Given the description of an element on the screen output the (x, y) to click on. 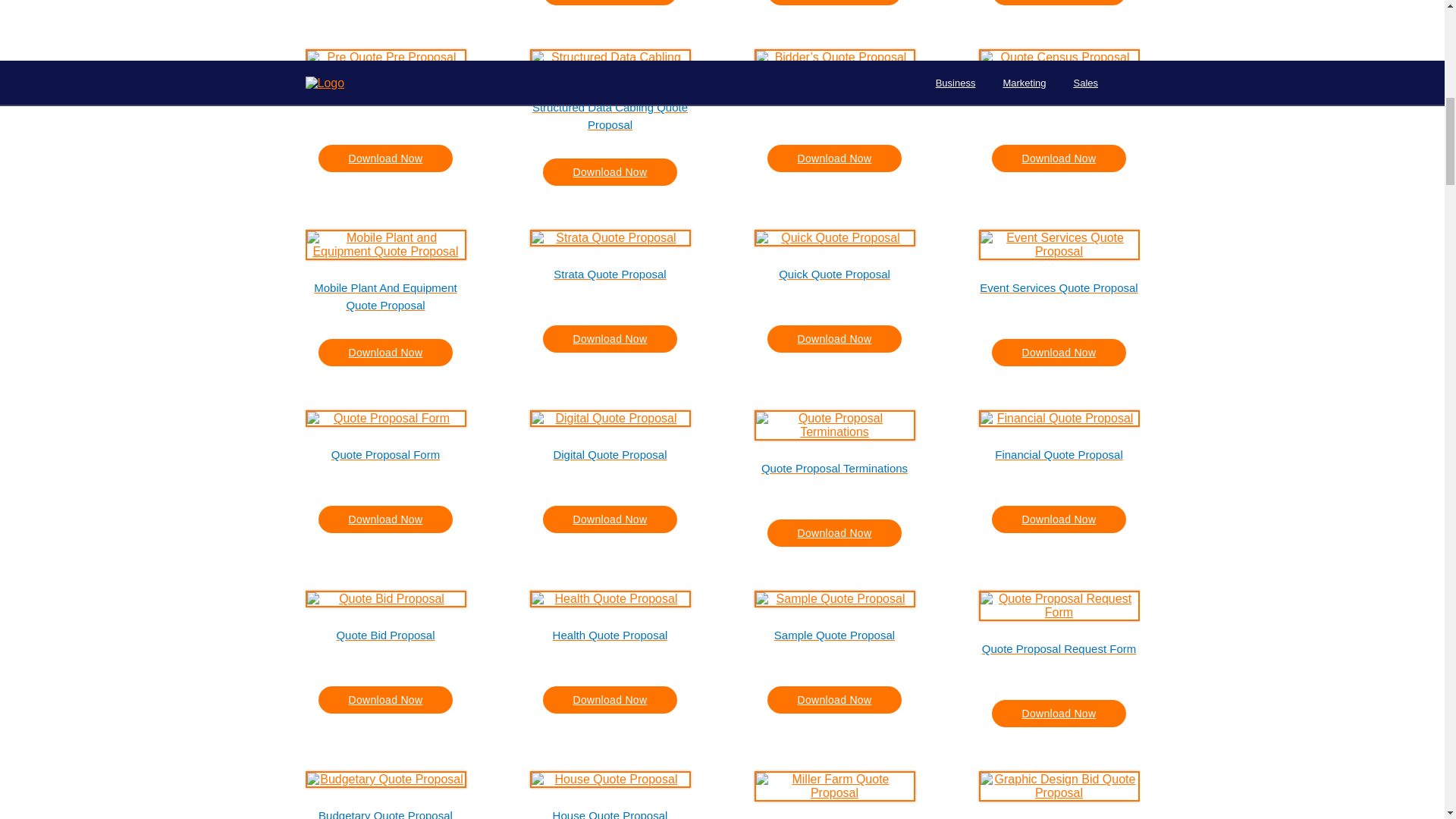
Pre Quote Pre Proposal (384, 101)
Download Now (834, 157)
Download Now (1058, 157)
Download Now (834, 2)
Download Now (610, 2)
Quote Census Proposal (1058, 101)
Download Now (1058, 2)
Download Now (385, 157)
Structured Data Cabling Quote Proposal (609, 114)
Download Now (610, 171)
